Given the description of an element on the screen output the (x, y) to click on. 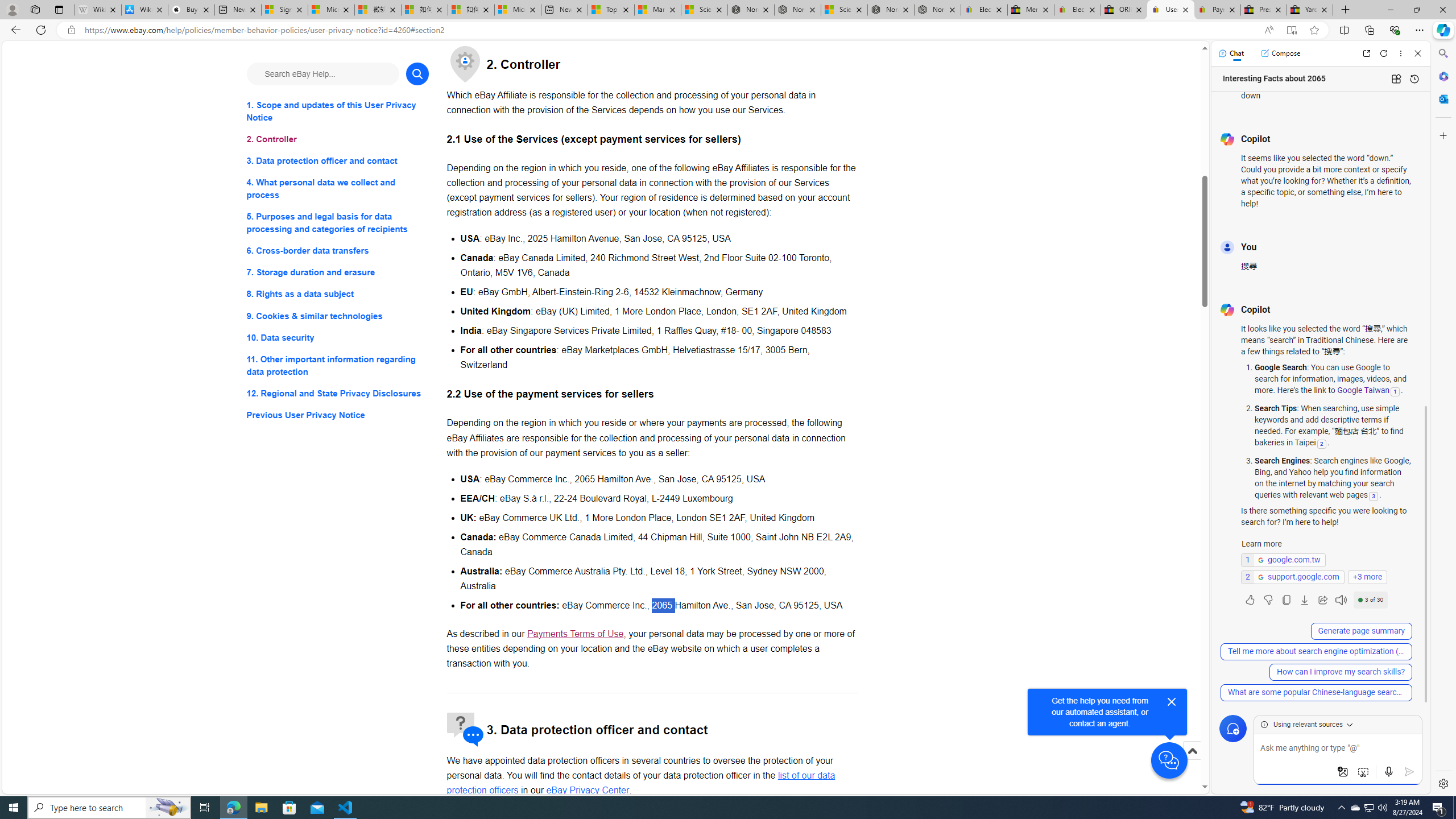
10. Data security (337, 336)
Copilot (Ctrl+Shift+.) (1442, 29)
Scroll to top (1191, 762)
4. What personal data we collect and process (337, 189)
Previous User Privacy Notice (337, 414)
Payments Terms of Use | eBay.com (1216, 9)
Chat (1231, 52)
Open link in new tab (1366, 53)
6. Cross-border data transfers (337, 250)
eBay Privacy Center - opens in new window or tab (587, 790)
2. Controller (337, 138)
Nordace - Summer Adventures 2024 (890, 9)
Sign in to your Microsoft account (284, 9)
